Given the description of an element on the screen output the (x, y) to click on. 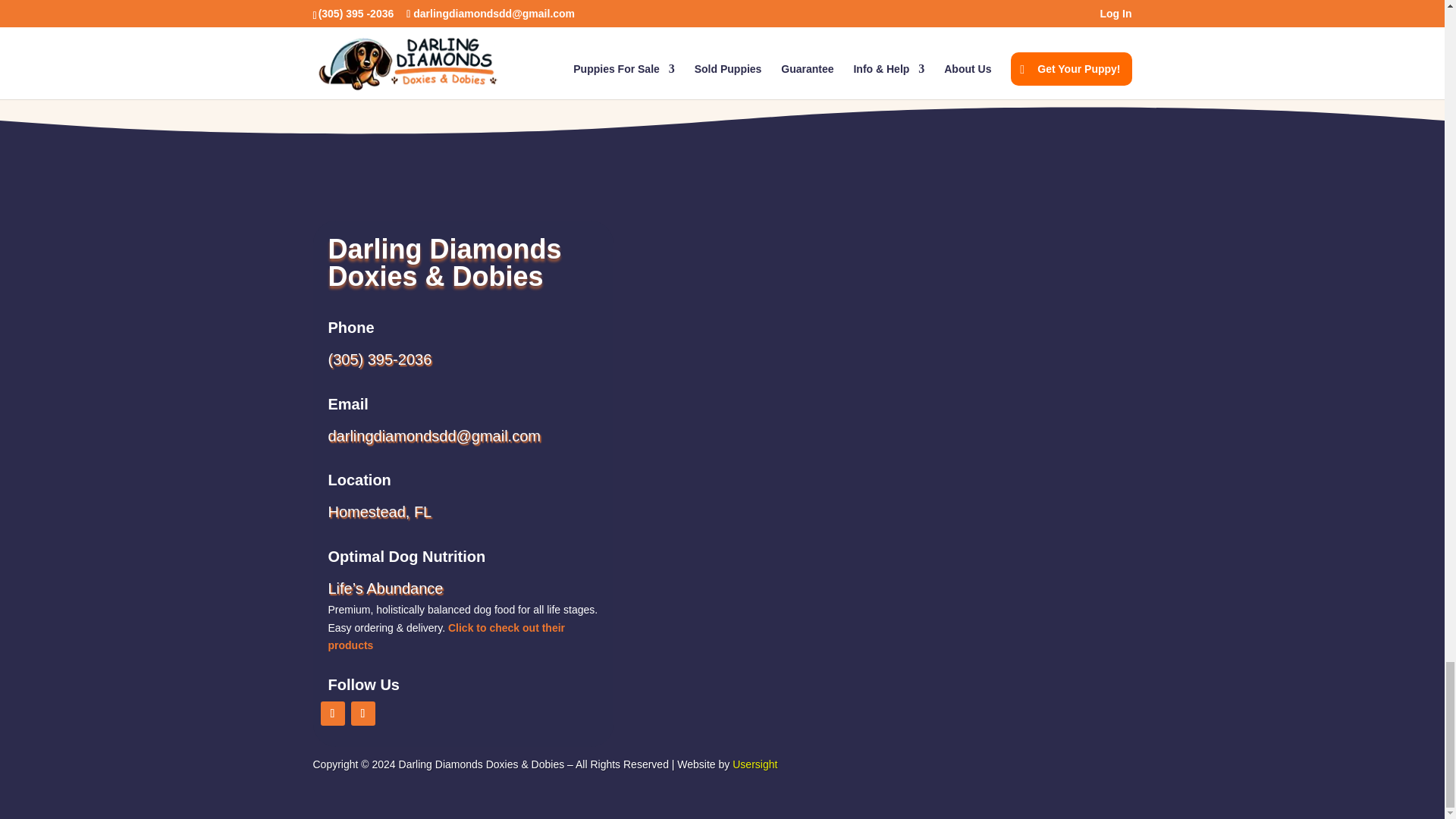
Follow on X (362, 713)
home bottom (505, 18)
Follow on Facebook (331, 713)
